Given the description of an element on the screen output the (x, y) to click on. 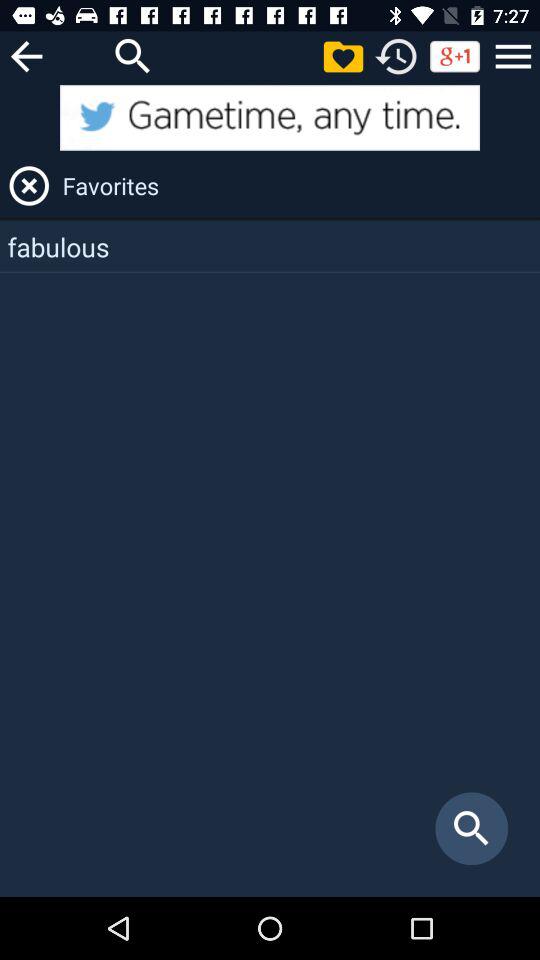
the twitter page (270, 117)
